Given the description of an element on the screen output the (x, y) to click on. 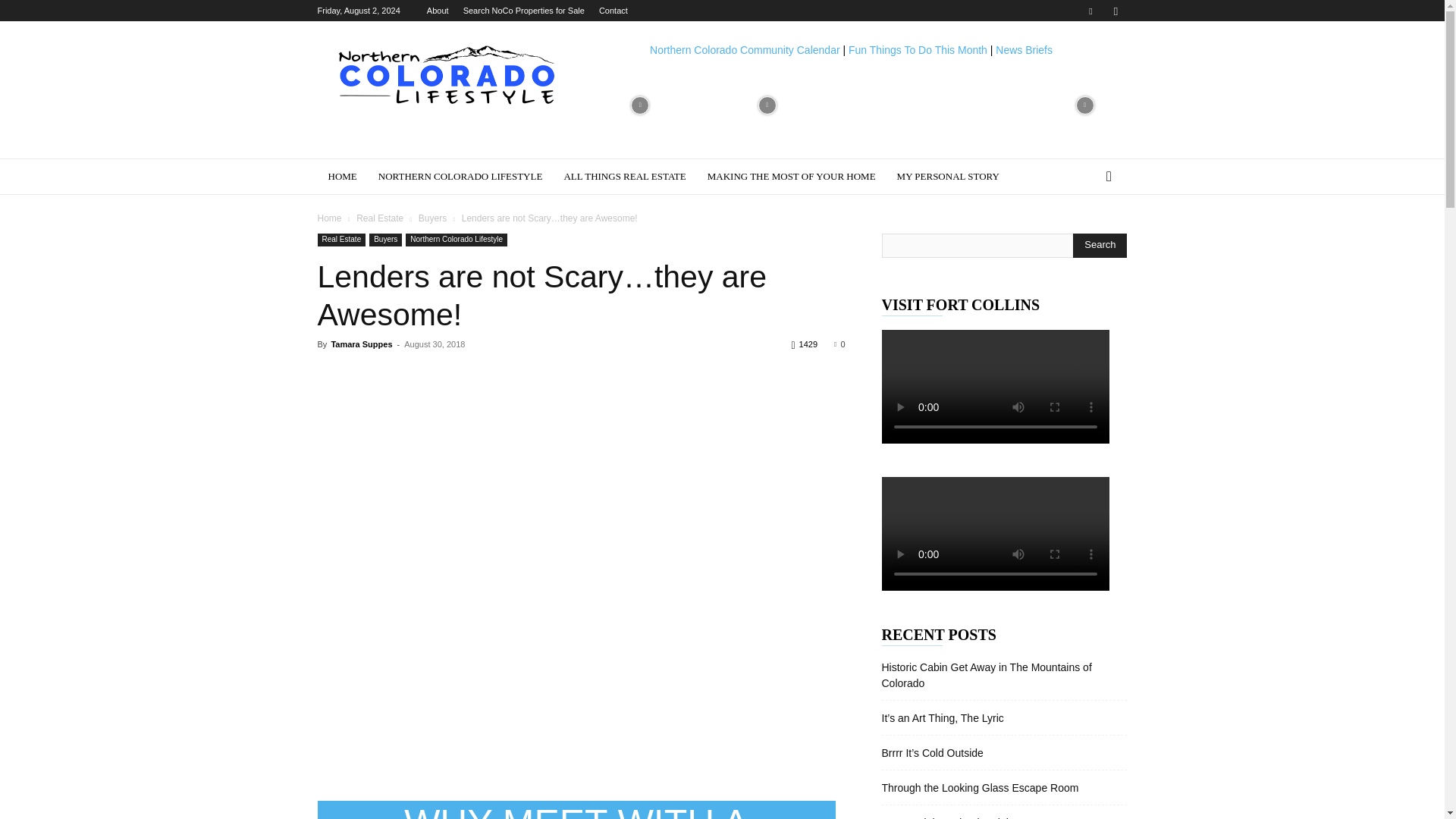
Instagram (1114, 10)
About (437, 10)
Northern Colorado Community Calendar (744, 50)
Fun Things To Do This Month (917, 50)
Search (1099, 245)
Facebook (1090, 10)
Contact (612, 10)
News Briefs (1023, 50)
Search NoCo Properties for Sale (524, 10)
